Given the description of an element on the screen output the (x, y) to click on. 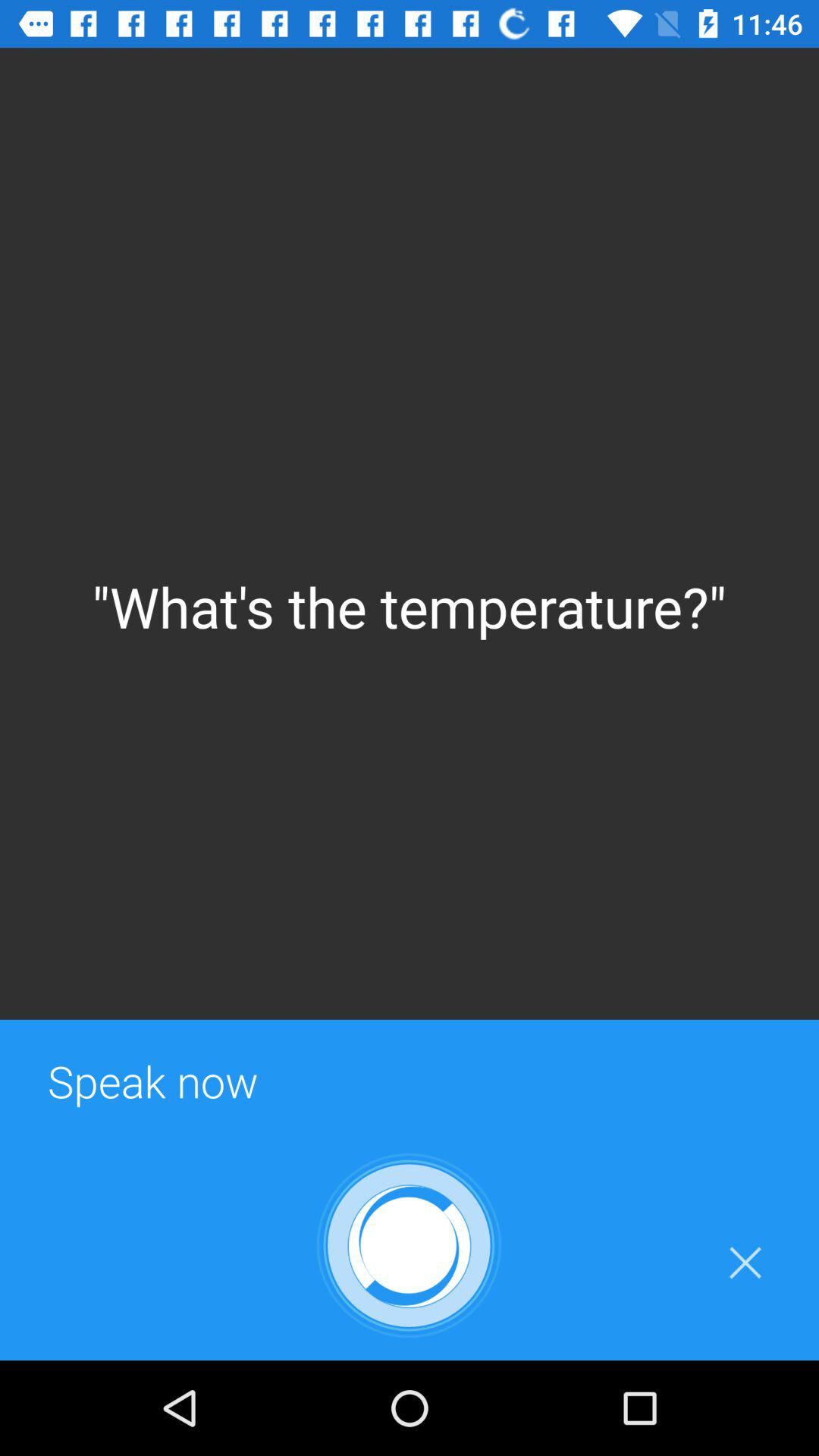
tap icon at the bottom right corner (745, 1262)
